Given the description of an element on the screen output the (x, y) to click on. 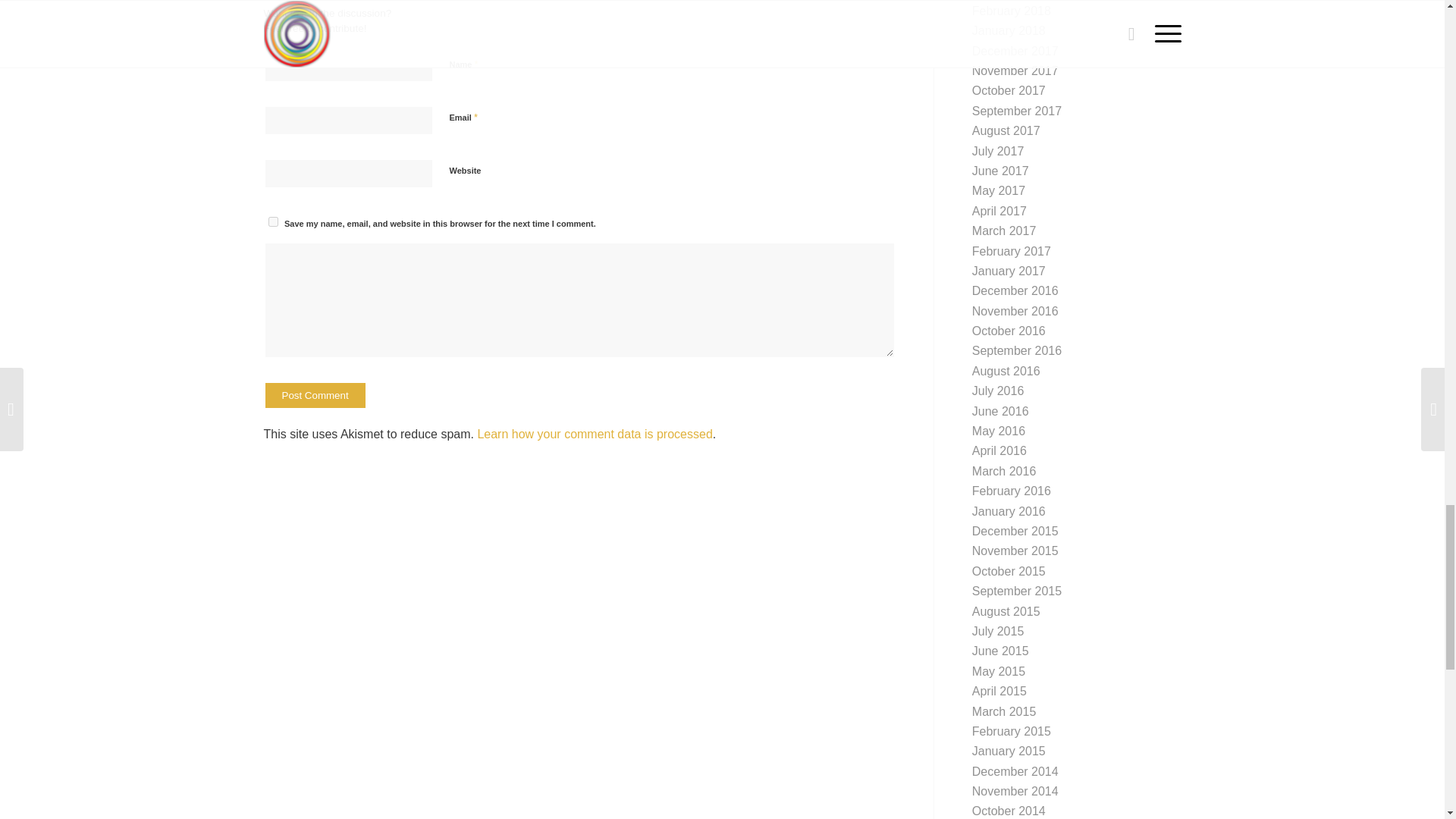
Post Comment (314, 395)
Learn how your comment data is processed (594, 433)
Post Comment (314, 395)
yes (272, 221)
